Given the description of an element on the screen output the (x, y) to click on. 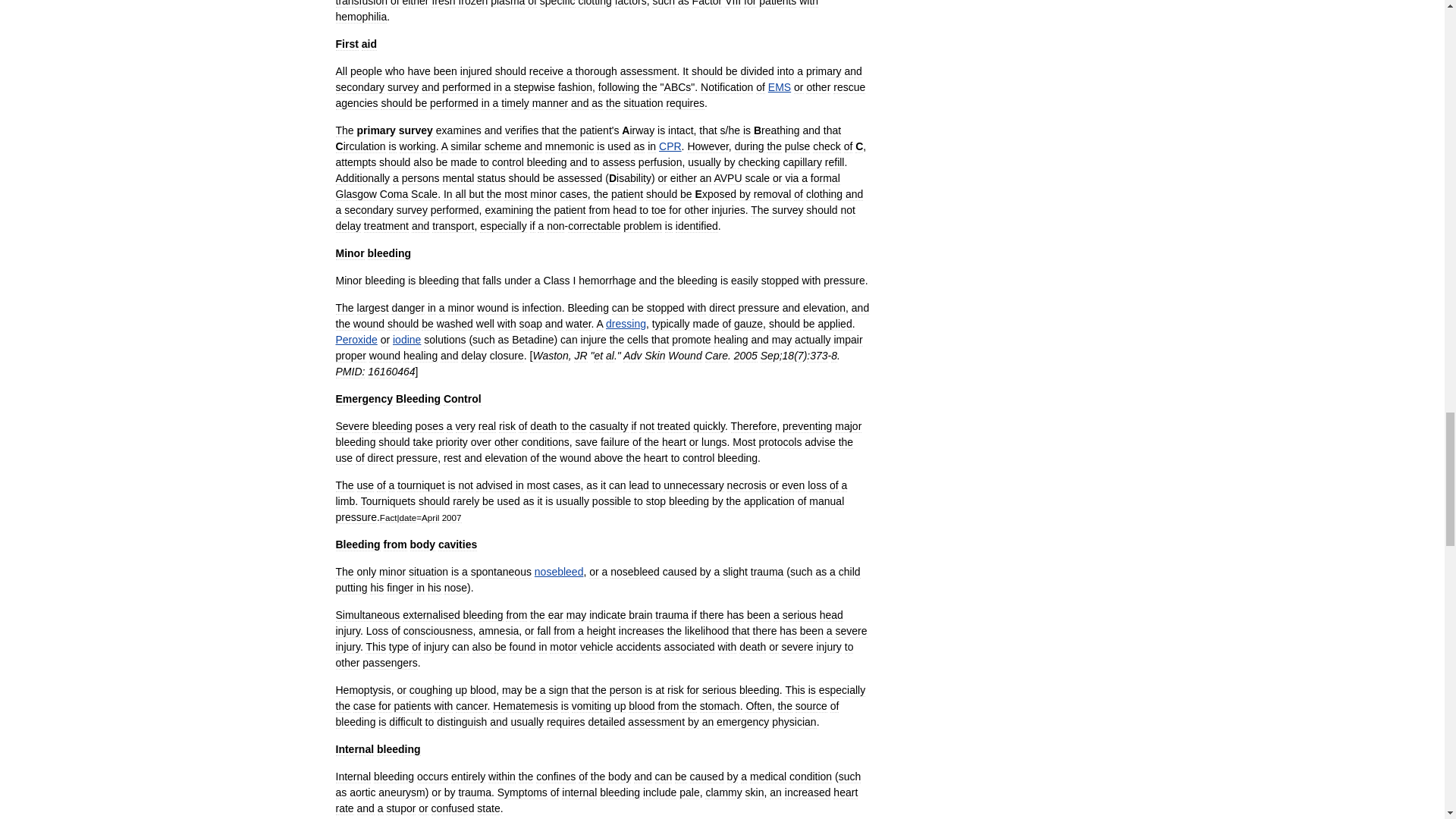
CPR (670, 146)
iodine (406, 339)
dressing (625, 323)
Peroxide (355, 339)
nosebleed (558, 571)
EMS (779, 87)
